Given the description of an element on the screen output the (x, y) to click on. 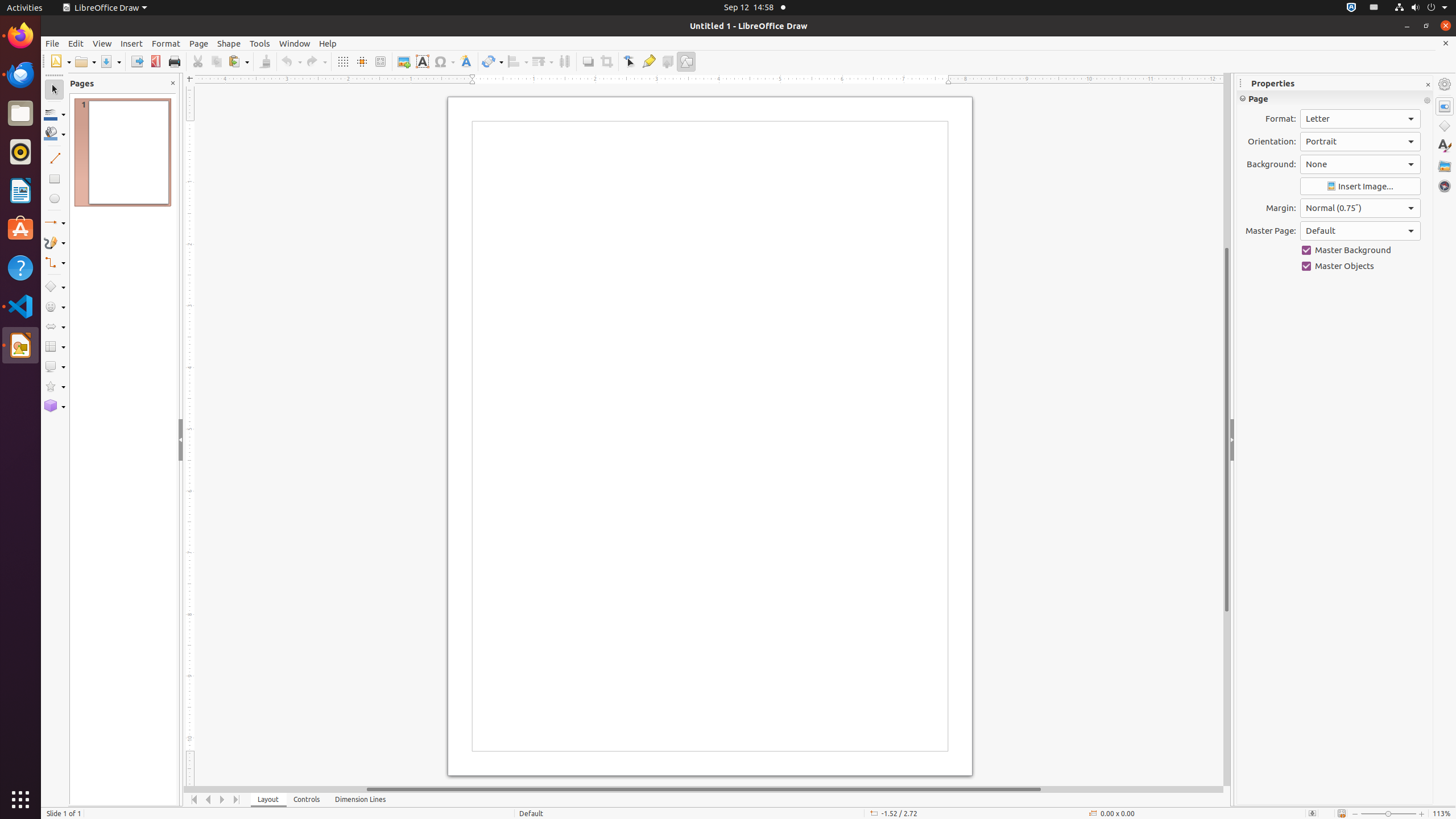
Vertical Ruler Element type: ruler (190, 436)
New Element type: push-button (59, 61)
Export Element type: push-button (136, 61)
Glue Points Element type: push-button (648, 61)
Image Element type: push-button (403, 61)
